Given the description of an element on the screen output the (x, y) to click on. 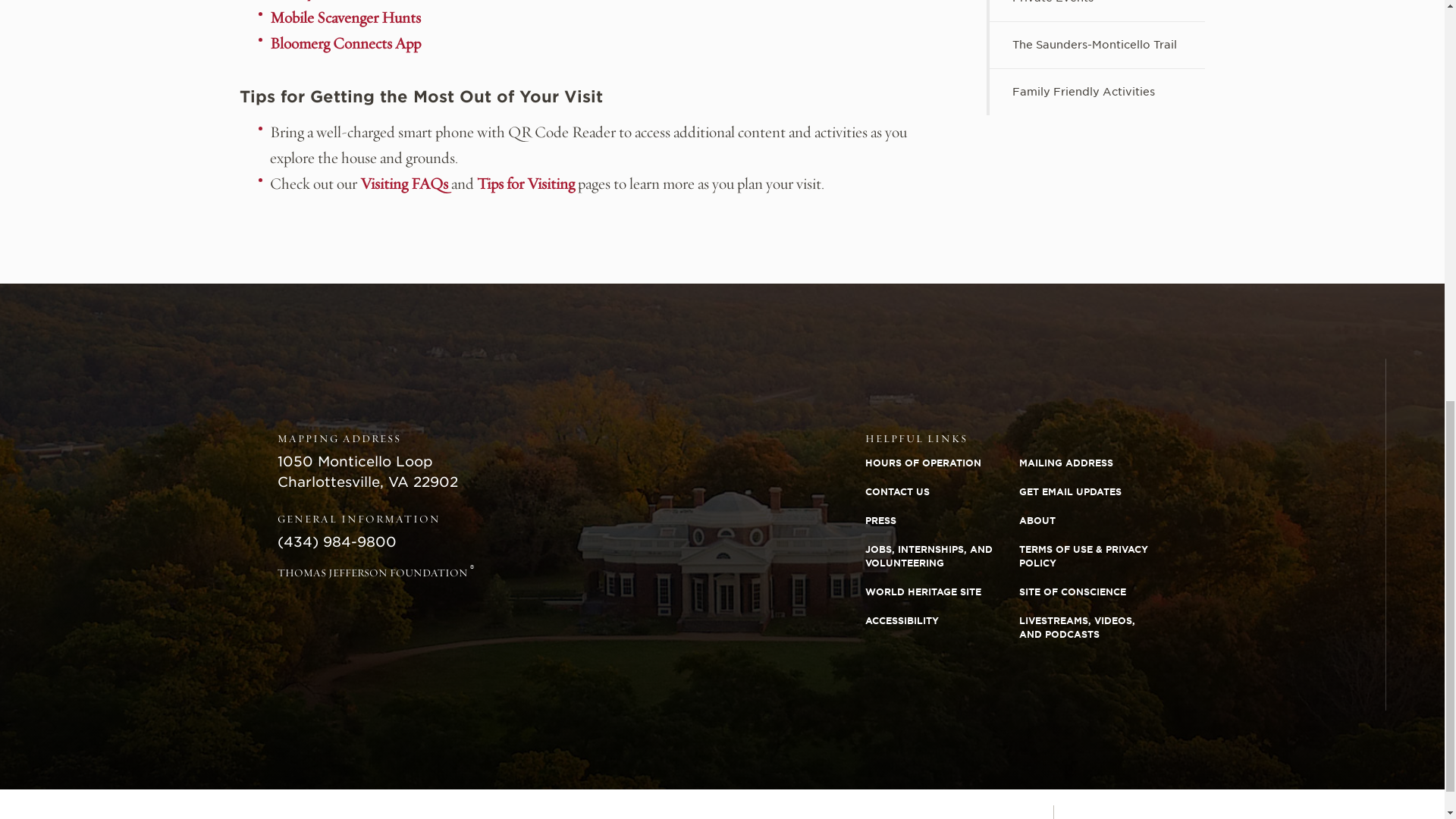
Private Events (1097, 10)
Tips for Visiting (526, 183)
Family Friendly Activities (1097, 91)
Mobile Scavenger Hunts (344, 17)
Bloomerg Connects App (344, 43)
Visiting FAQs (403, 183)
The Saunders-Monticello Trail (1097, 44)
